Given the description of an element on the screen output the (x, y) to click on. 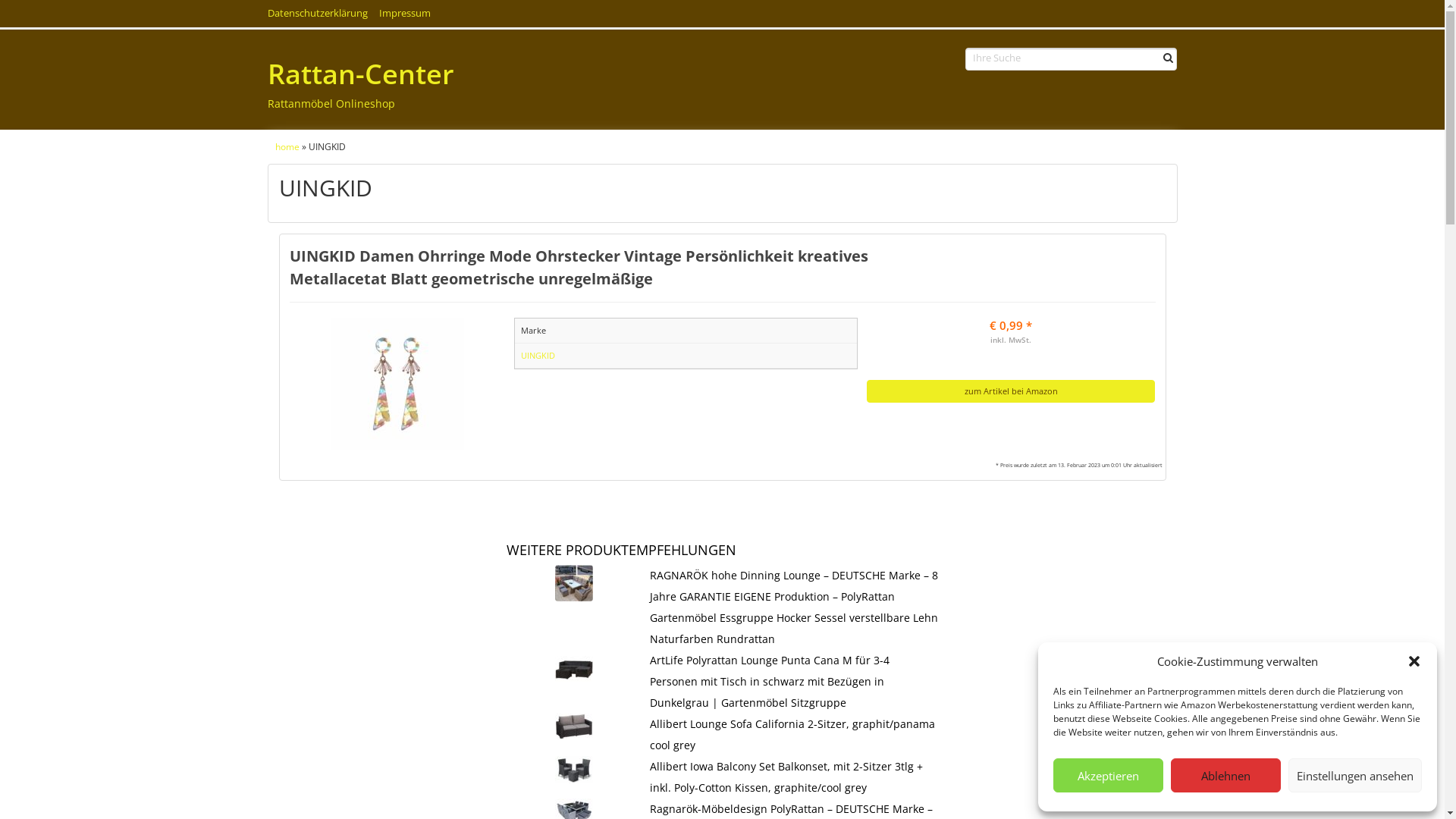
Rattan-Center Element type: text (456, 74)
Ablehnen Element type: text (1225, 775)
Einstellungen ansehen Element type: text (1354, 775)
Akzeptieren Element type: text (1108, 775)
UINGKID Element type: text (537, 354)
zum Artikel bei Amazon Element type: text (1010, 390)
home Element type: text (286, 146)
Impressum Element type: text (404, 12)
